Given the description of an element on the screen output the (x, y) to click on. 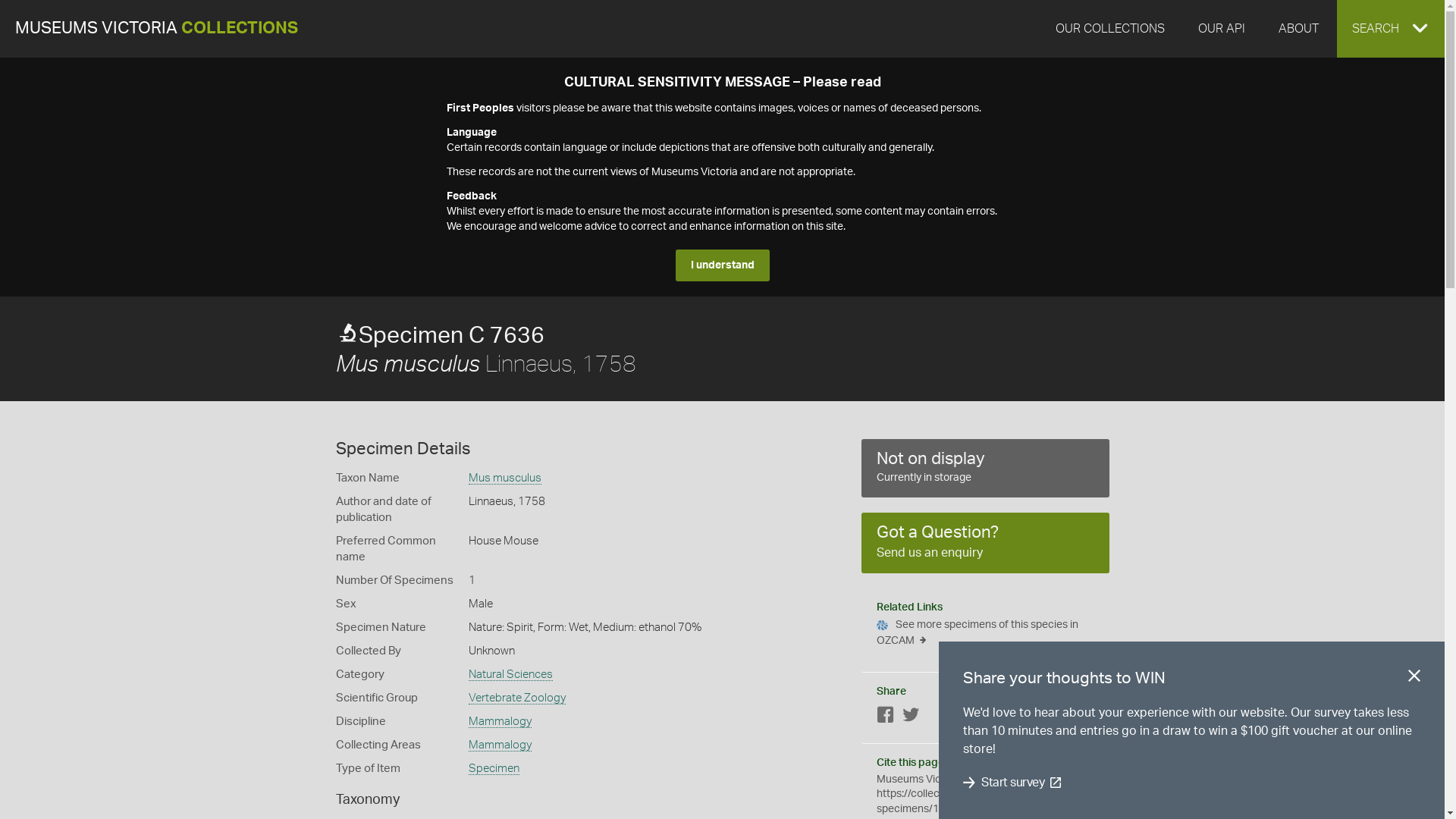
Mammalogy Element type: text (499, 745)
Twitter Element type: text (910, 717)
Facebook Element type: text (885, 717)
OUR COLLECTIONS Element type: text (1109, 28)
Start survey Element type: text (1012, 782)
I understand Element type: text (721, 265)
Got a Question?
Send us an enquiry Element type: text (985, 542)
Natural Sciences Element type: text (510, 674)
Vertebrate Zoology Element type: text (516, 698)
EXPAND SEARCH BOX
SEARCH Element type: text (1390, 28)
OUR API Element type: text (1221, 28)
See more specimens of this species in OZCAM Element type: text (985, 636)
Mammalogy Element type: text (499, 721)
ABOUT Element type: text (1298, 28)
Specimen Element type: text (493, 768)
MUSEUMS VICTORIA COLLECTIONS Element type: text (156, 28)
Mus musculus Element type: text (504, 478)
Close Element type: hover (1414, 678)
